Given the description of an element on the screen output the (x, y) to click on. 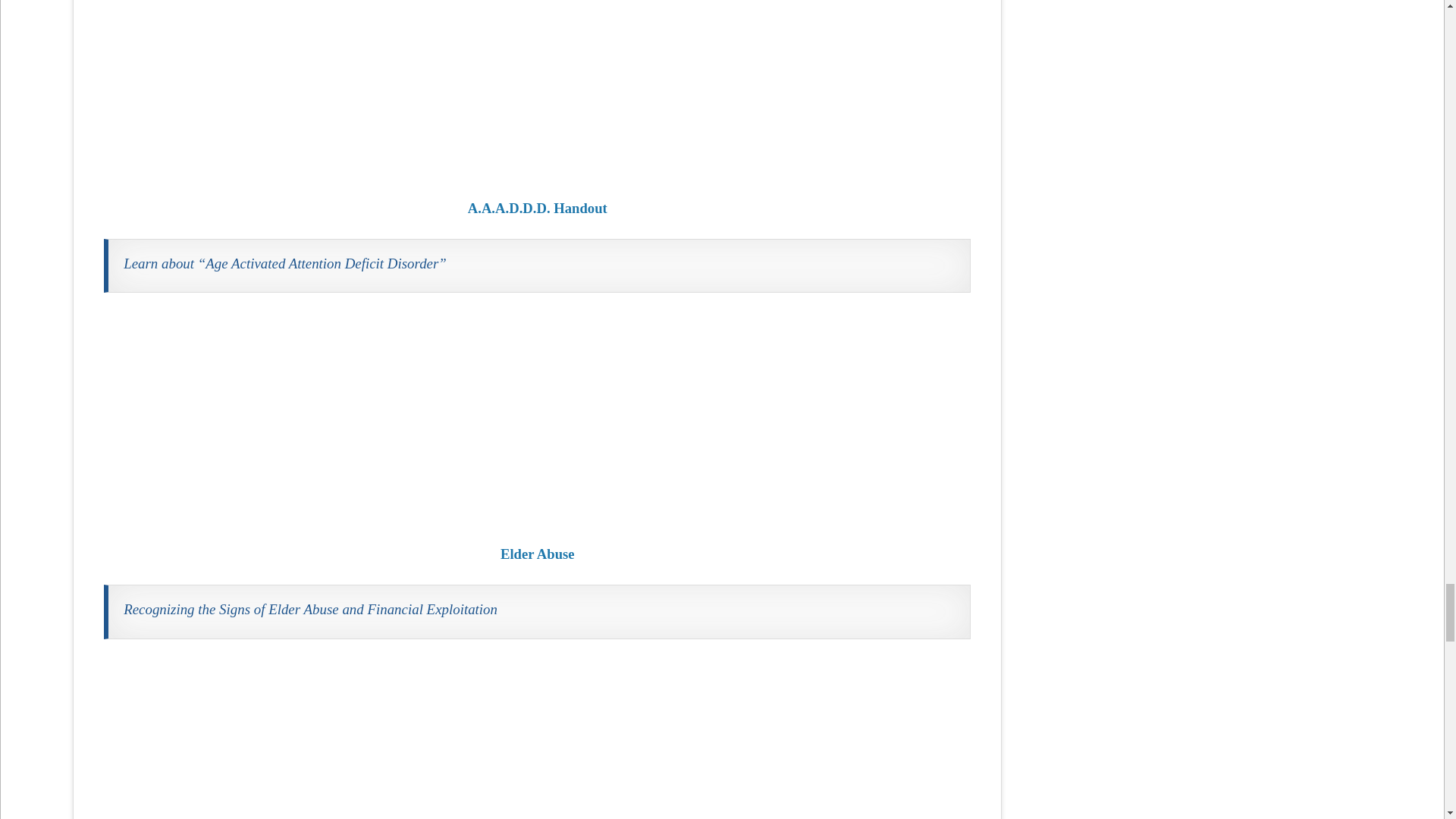
A.A.A.D.D.D. Handout (536, 89)
Hospice Handout What You Need to Know About (536, 738)
Elder Abuse (536, 418)
